Given the description of an element on the screen output the (x, y) to click on. 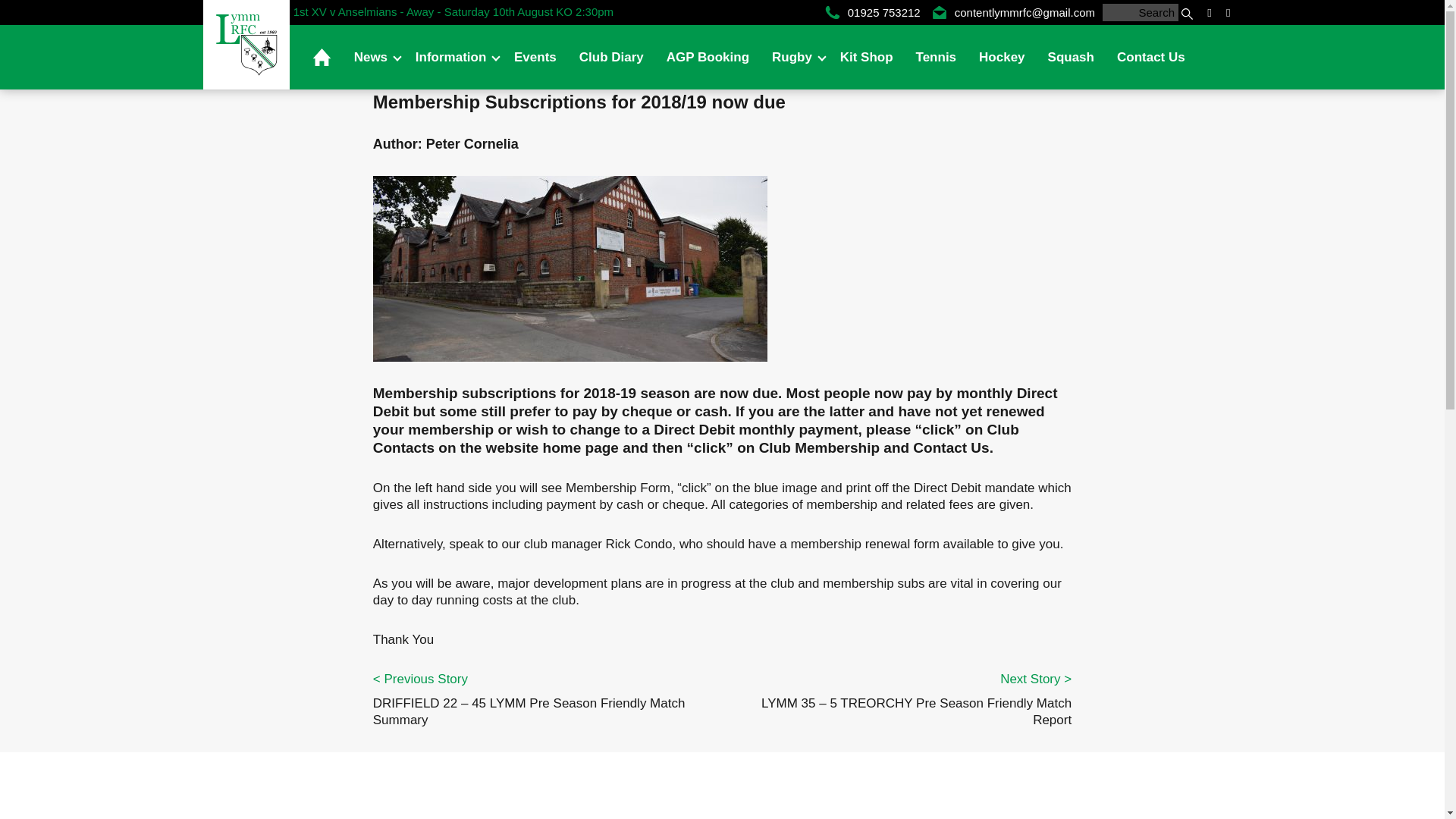
Go to Lymm RFC. (764, 13)
Information (453, 57)
AGP Booking (707, 57)
Club Diary (611, 57)
News (373, 57)
01925 753212 (872, 11)
Events (534, 57)
Rugby (794, 57)
